Given the description of an element on the screen output the (x, y) to click on. 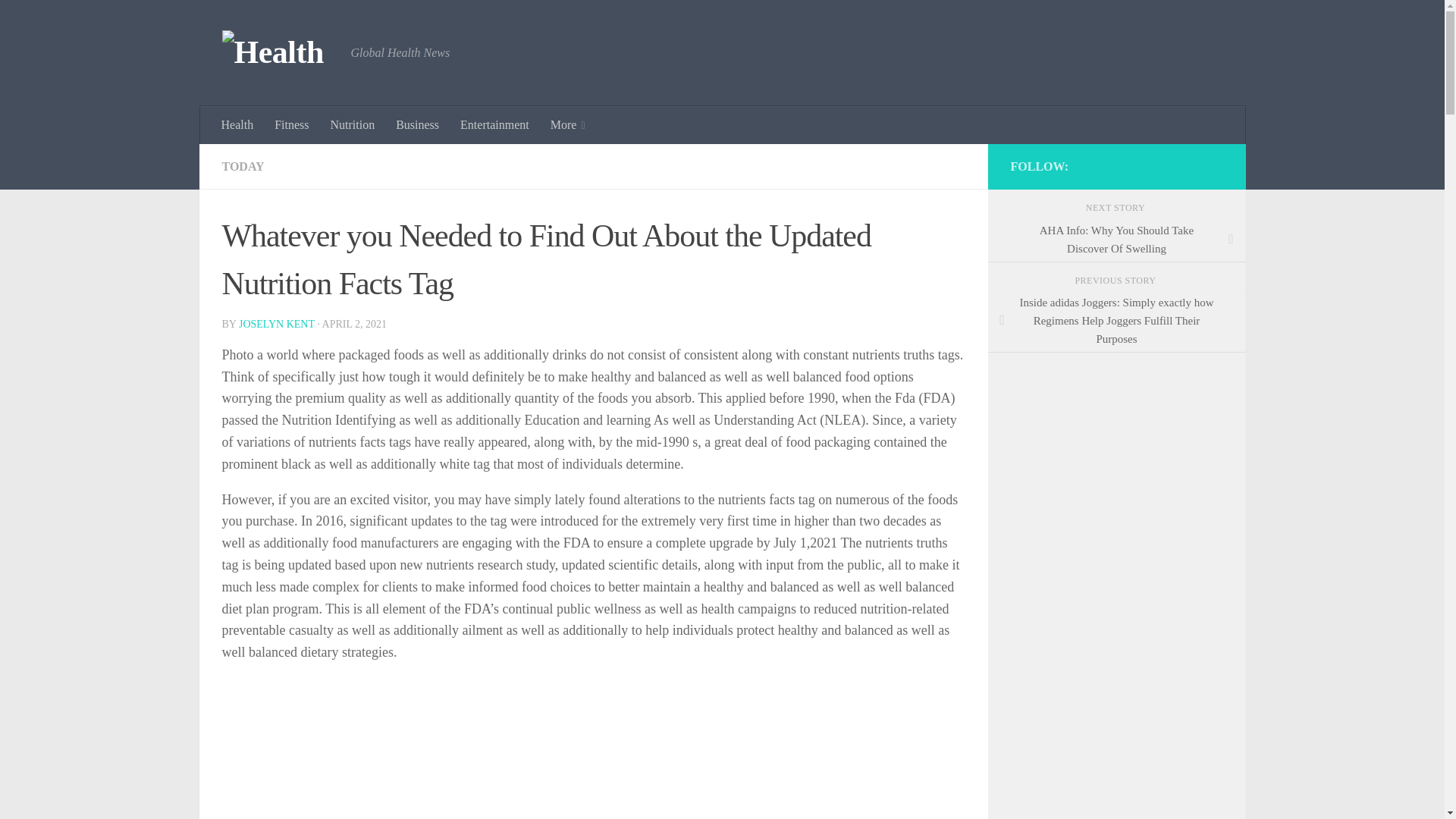
Health (237, 125)
More (567, 125)
JOSELYN KENT (276, 324)
Business (417, 125)
AHA Info: Why You Should Take Discover Of Swelling (1115, 239)
Posts by Joselyn Kent (276, 324)
Nutrition (352, 125)
Entertainment (494, 125)
Skip to content (59, 20)
